Given the description of an element on the screen output the (x, y) to click on. 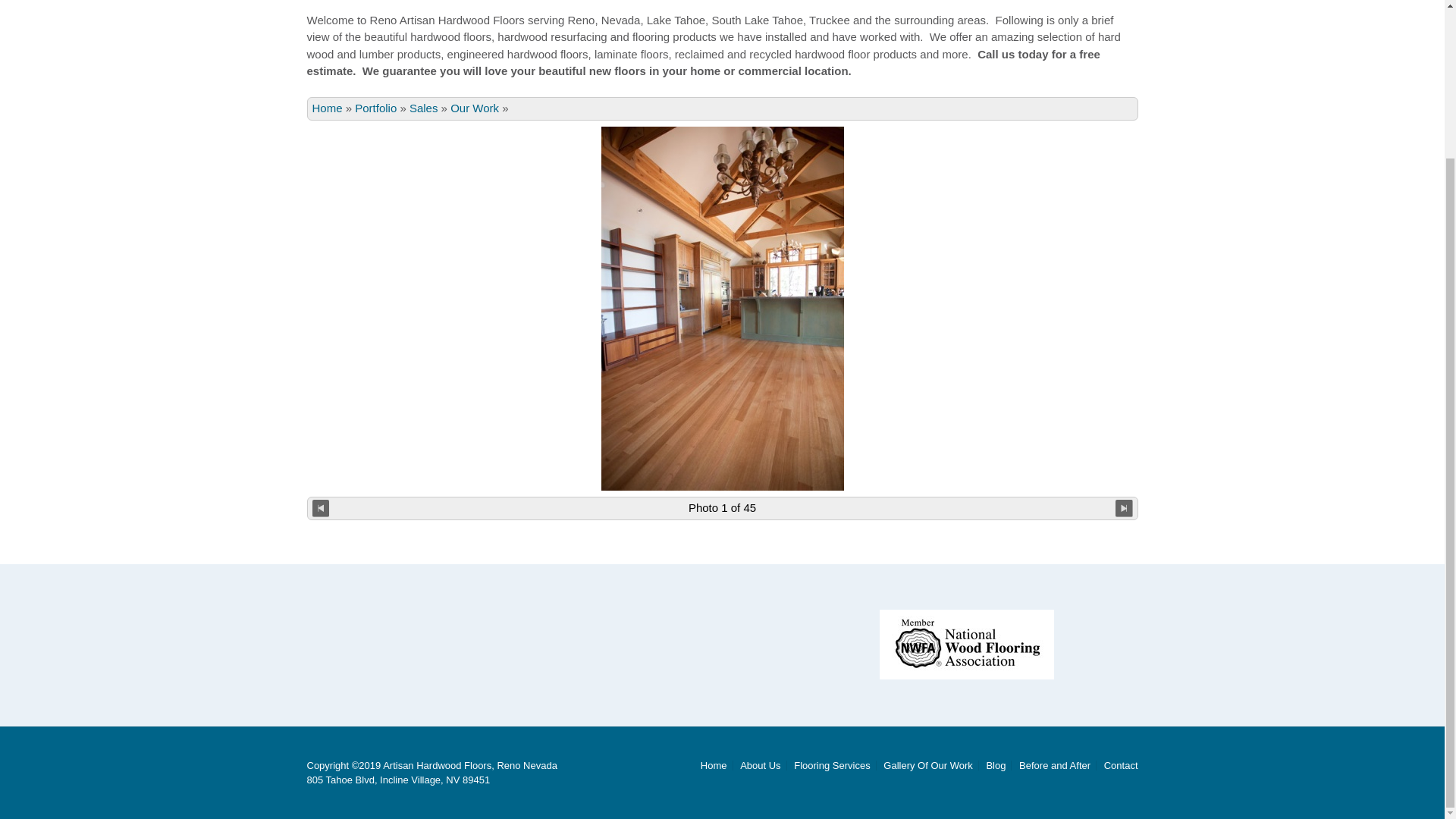
About Us (760, 765)
Before and After (1054, 765)
Home (327, 107)
Previous photo (321, 507)
Flooring Services (832, 765)
Home (713, 765)
Album: Our Work (474, 107)
Page: Sales (423, 107)
Contact (1118, 765)
Gallery Of Our Work (927, 765)
Blog (994, 765)
Portfolio (375, 107)
Page: Portfolio (375, 107)
Our Work (474, 107)
